Given the description of an element on the screen output the (x, y) to click on. 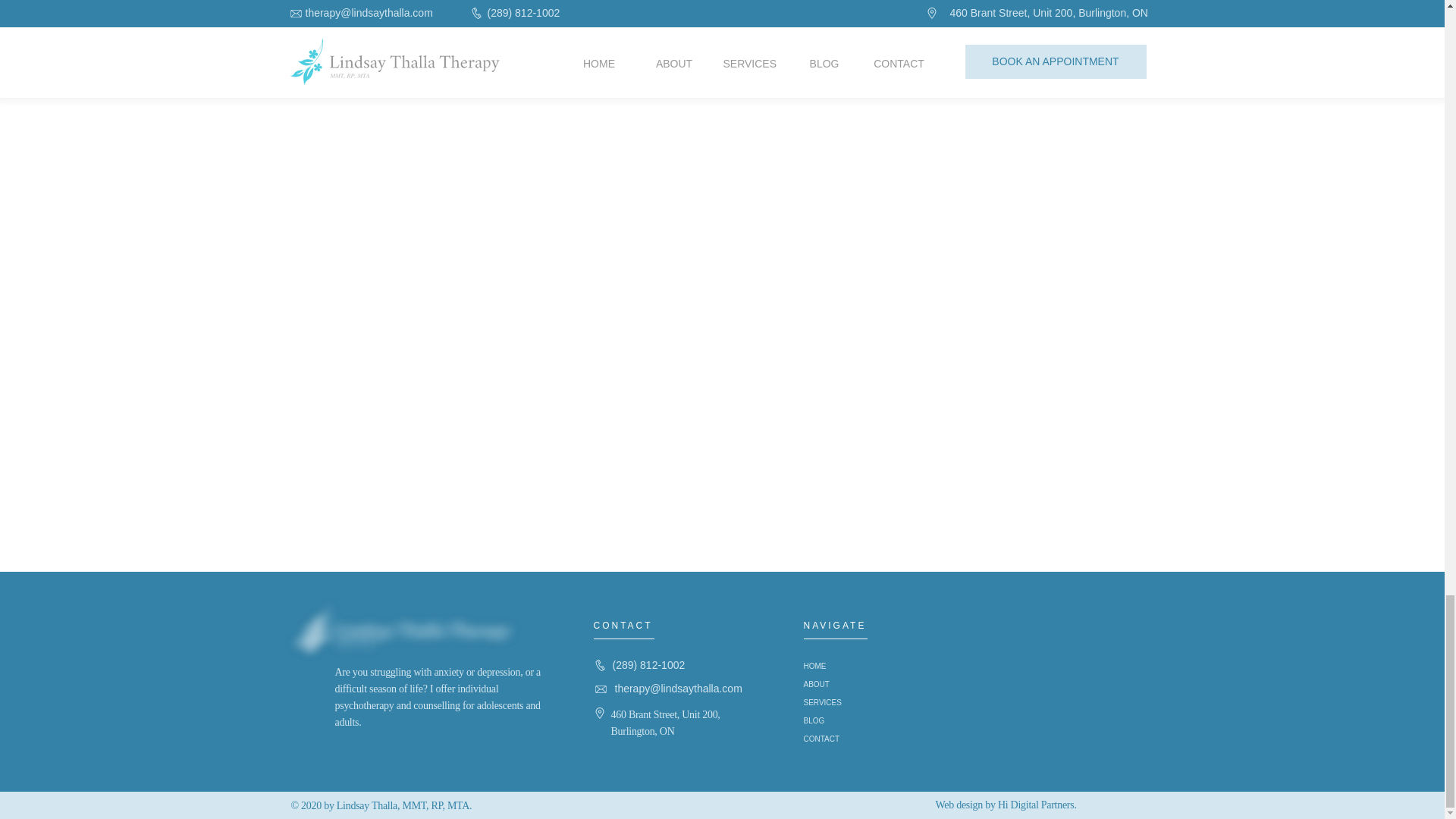
BOOK AN APPOINTMENT (721, 11)
ABOUT (852, 684)
460 Brant Street, Unit 200, Burlington, ON (665, 722)
HOME (852, 666)
